Given the description of an element on the screen output the (x, y) to click on. 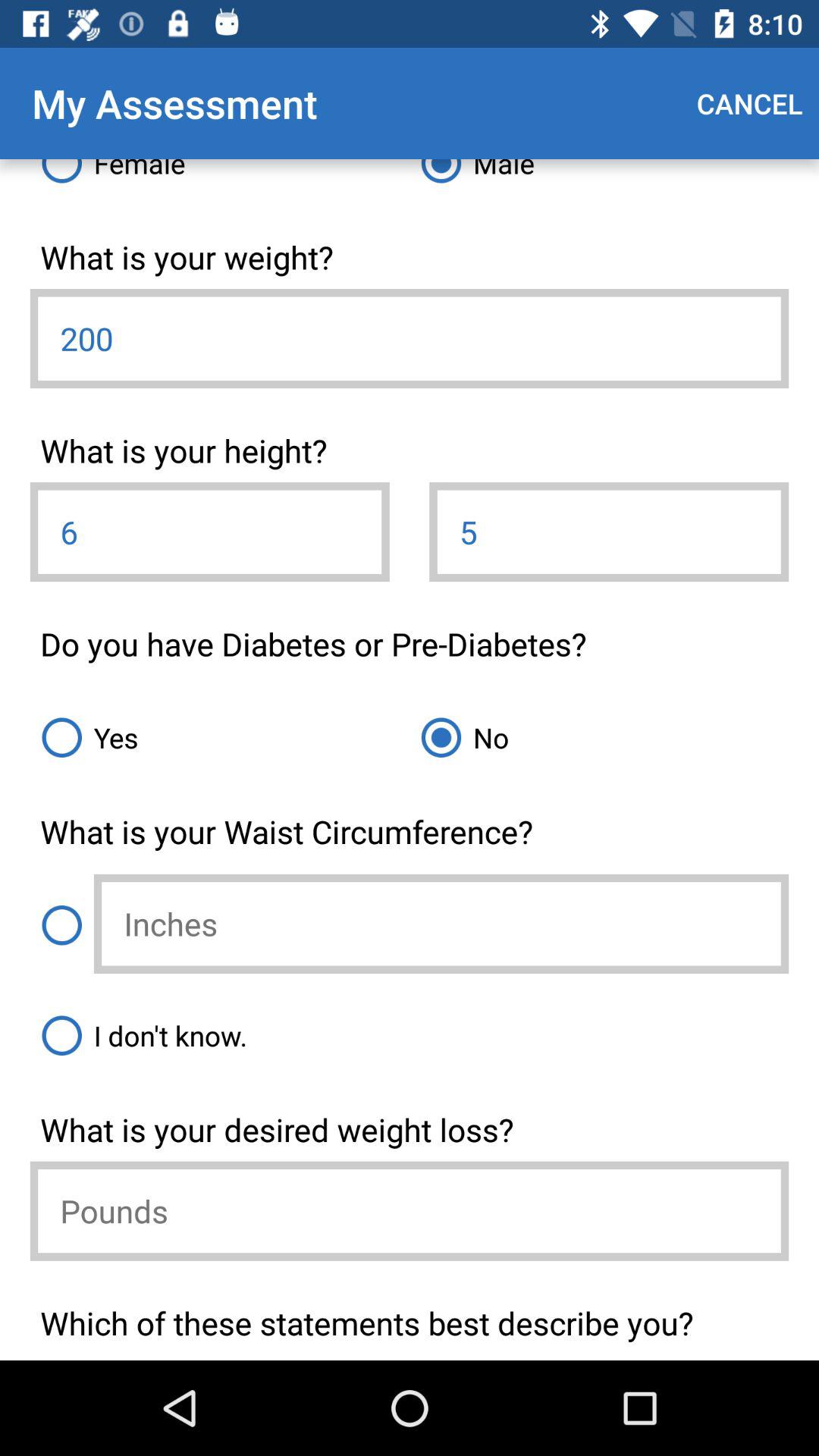
jump until no icon (598, 737)
